Given the description of an element on the screen output the (x, y) to click on. 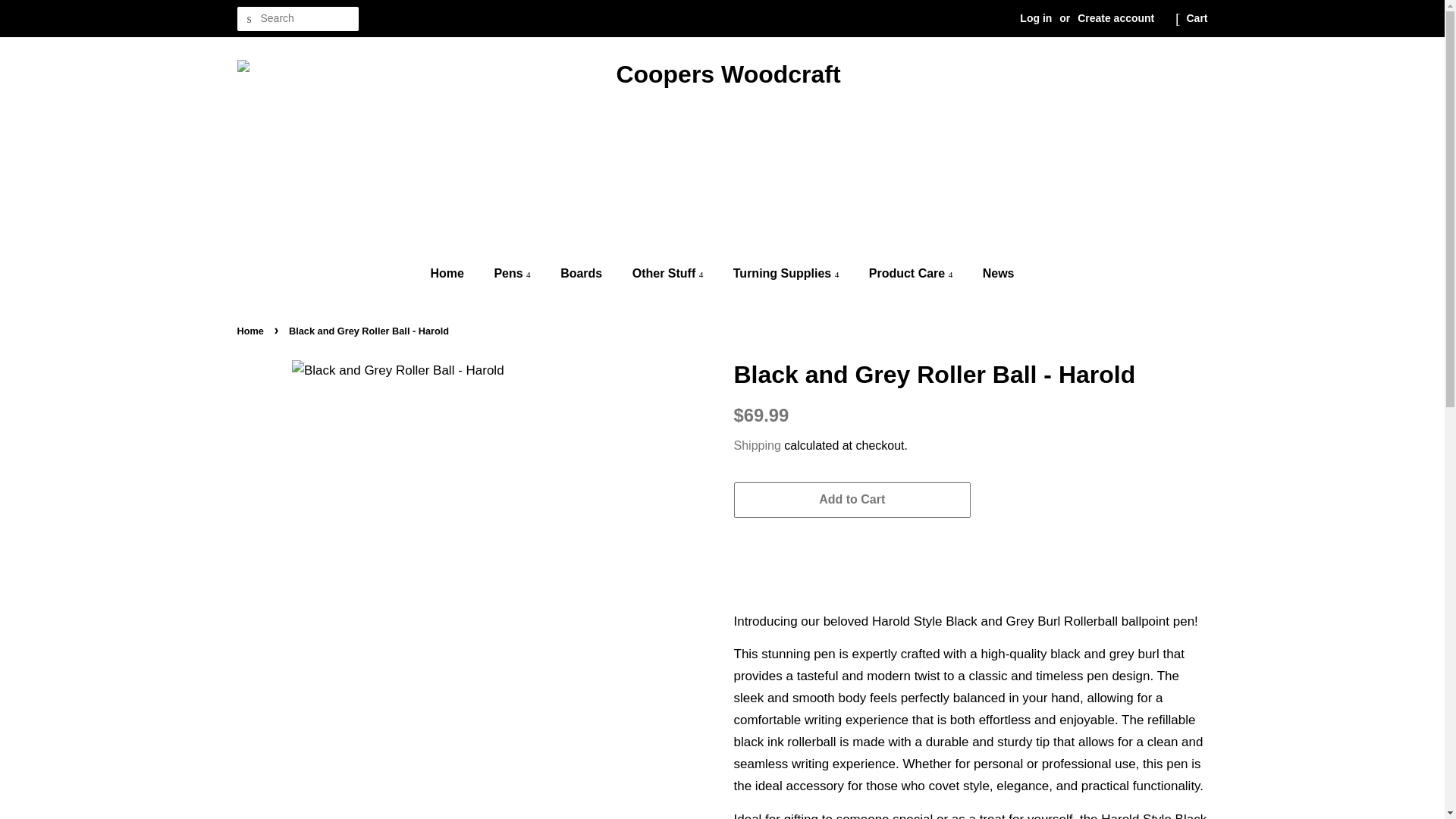
Other Stuff (670, 273)
Back to the frontpage (250, 330)
Cart (1196, 18)
Log in (1035, 18)
Create account (1115, 18)
Search (247, 18)
Home (454, 273)
Boards (582, 273)
Pens (512, 273)
